Given the description of an element on the screen output the (x, y) to click on. 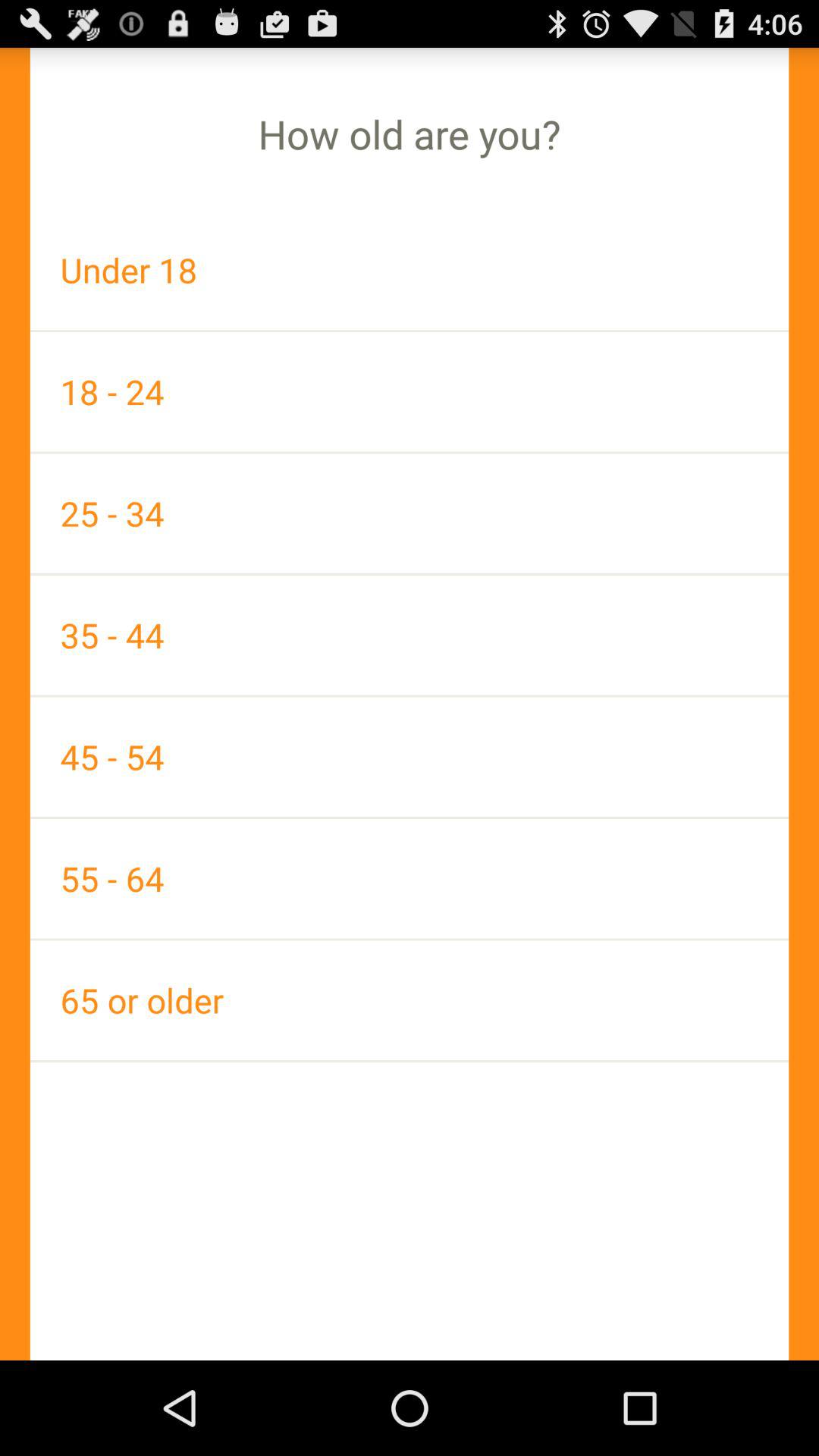
press icon above 18 - 24 app (409, 269)
